Given the description of an element on the screen output the (x, y) to click on. 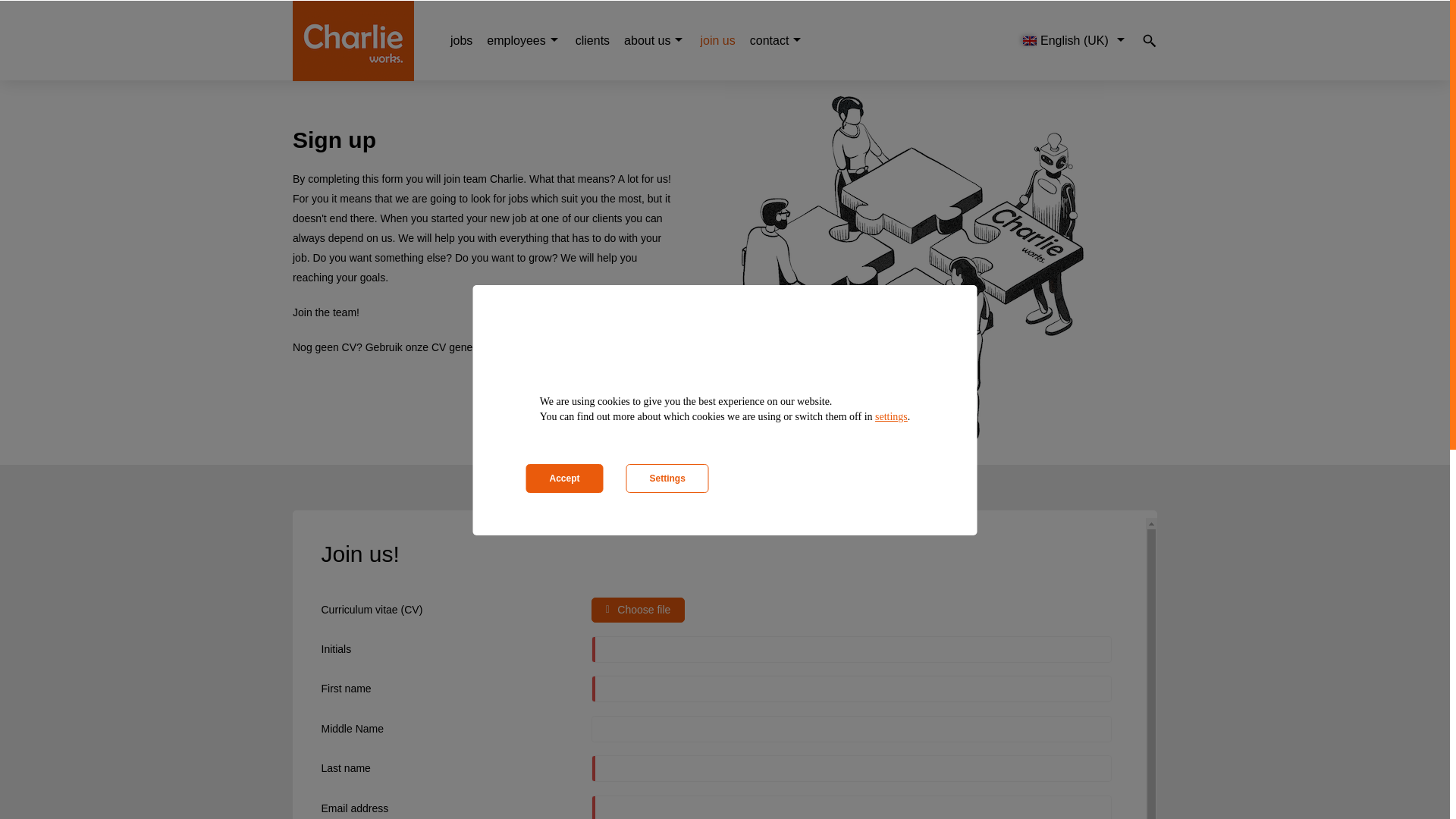
Accept (564, 478)
open CV generator (553, 346)
clients (592, 40)
about us (647, 40)
join us (717, 40)
contact (769, 40)
jobs (461, 40)
Settings (667, 478)
Search (21, 7)
employees (515, 40)
